Given the description of an element on the screen output the (x, y) to click on. 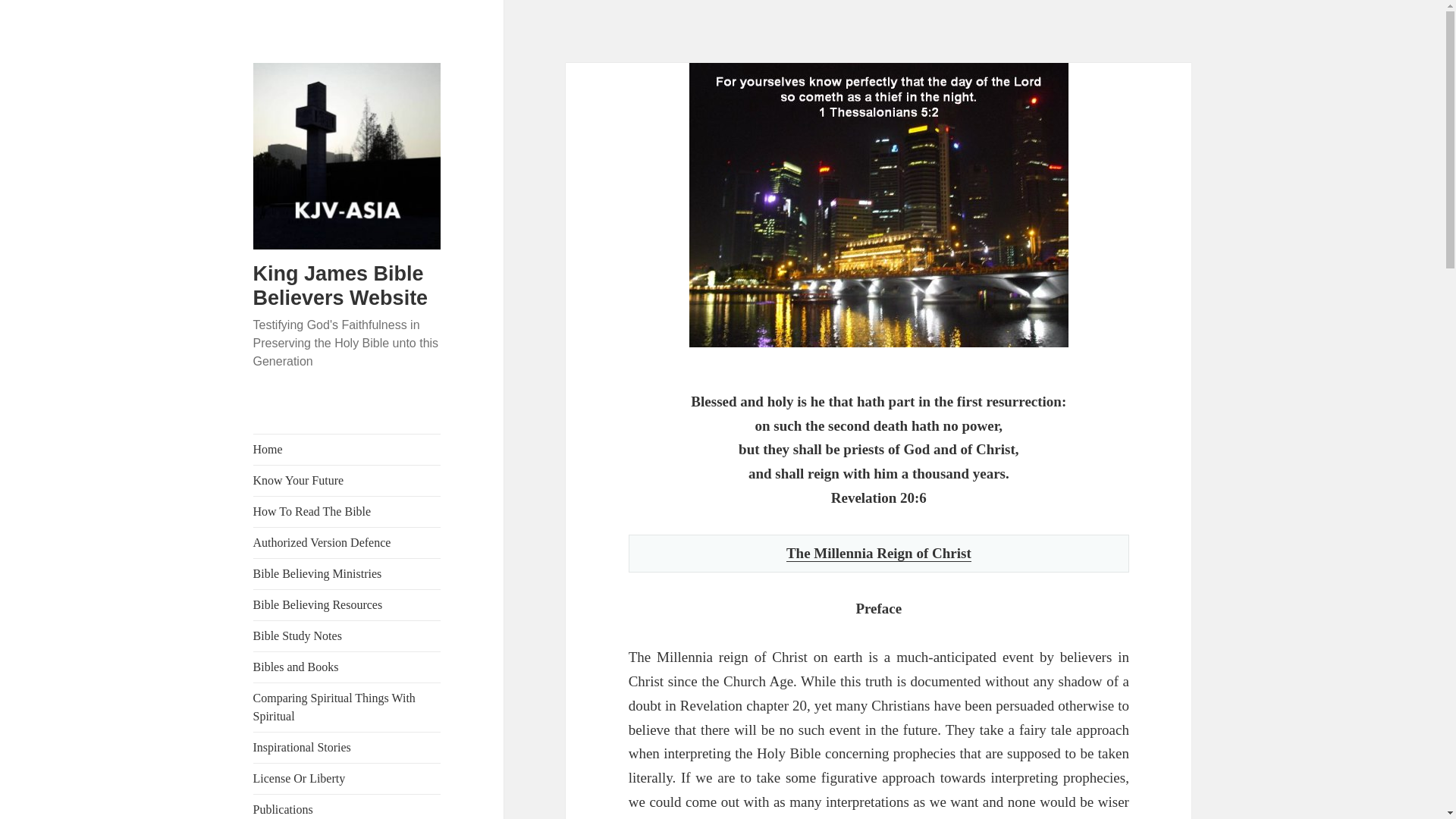
Bible Believing Resources (347, 604)
Bible Study Notes (347, 635)
Inspirational Stories (347, 747)
Publications (347, 806)
Bible Believing Ministries (347, 573)
Home (347, 449)
How To Read The Bible (347, 511)
Comparing Spiritual Things With Spiritual (347, 707)
Know Your Future (347, 481)
Bibles and Books (347, 666)
License Or Liberty (347, 778)
Authorized Version Defence (347, 542)
King James Bible Believers Website (340, 285)
